Given the description of an element on the screen output the (x, y) to click on. 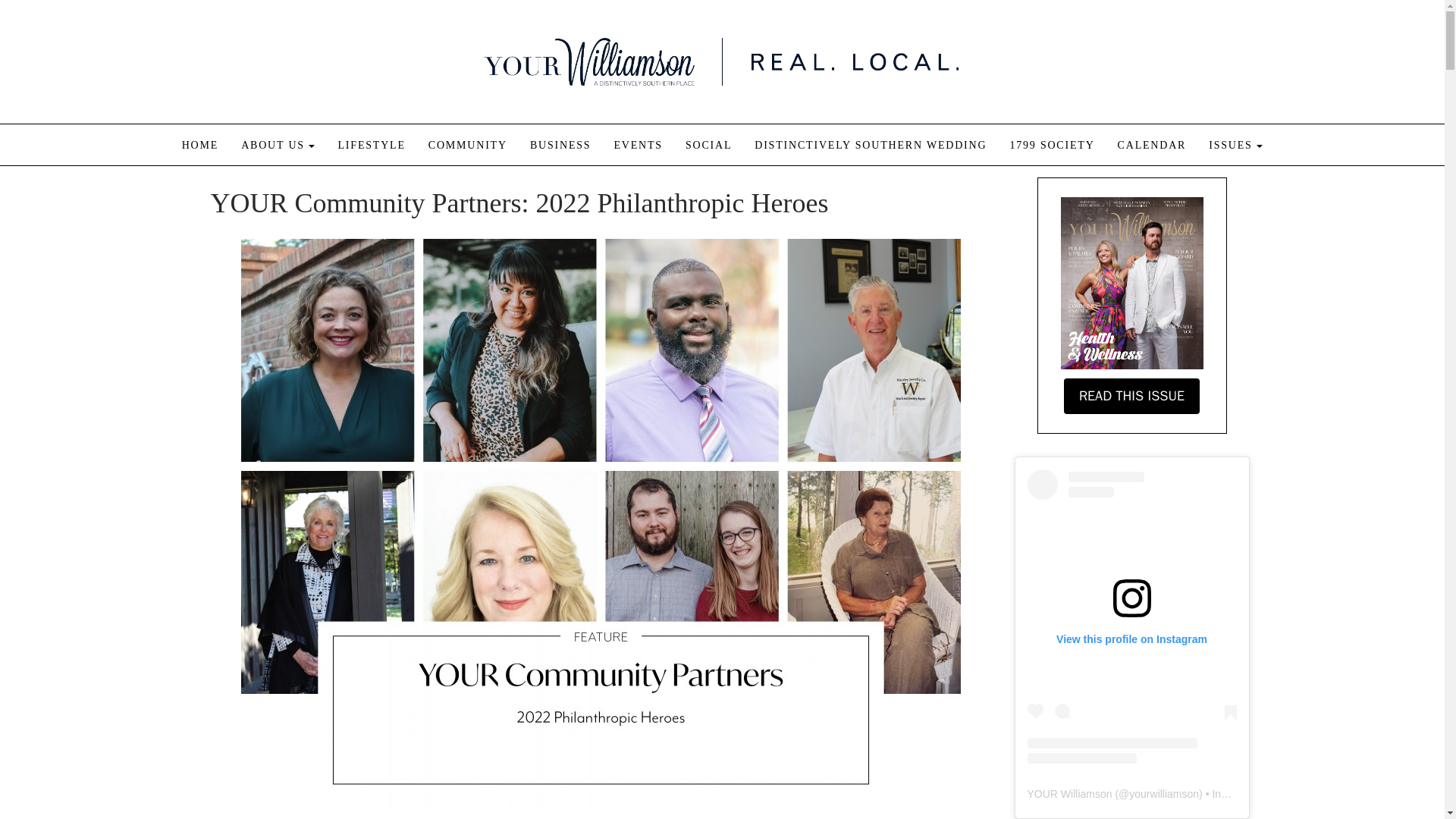
HOME (200, 144)
ABOUT US (277, 144)
DISTINCTIVELY SOUTHERN WEDDING (870, 144)
ISSUES (1235, 144)
SOCIAL (708, 144)
EVENTS (637, 144)
COMMUNITY (467, 144)
BUSINESS (560, 144)
CALENDAR (1152, 144)
1799 SOCIETY (1051, 144)
